Given the description of an element on the screen output the (x, y) to click on. 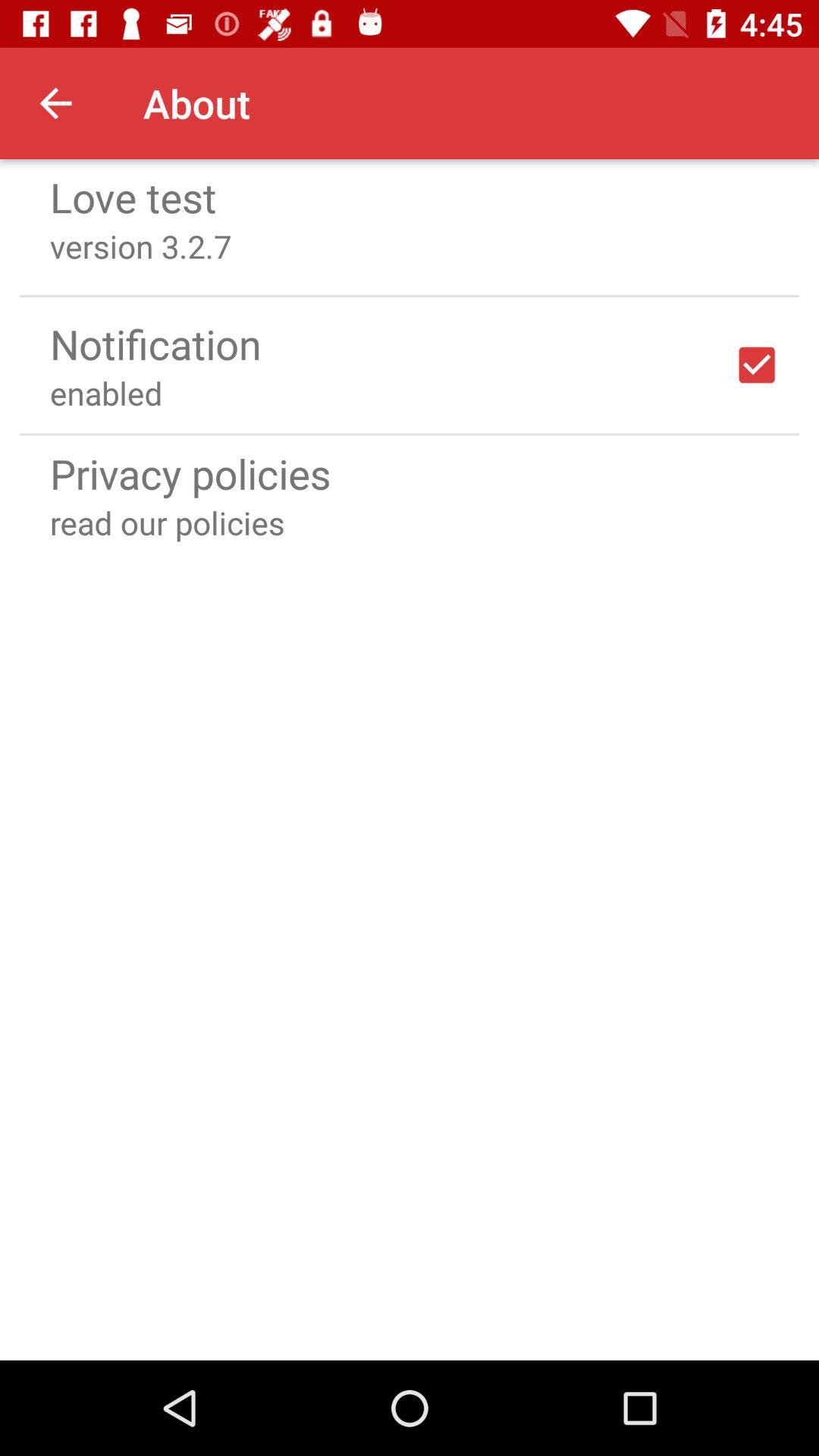
launch item below the version 3 2 (409, 296)
